Given the description of an element on the screen output the (x, y) to click on. 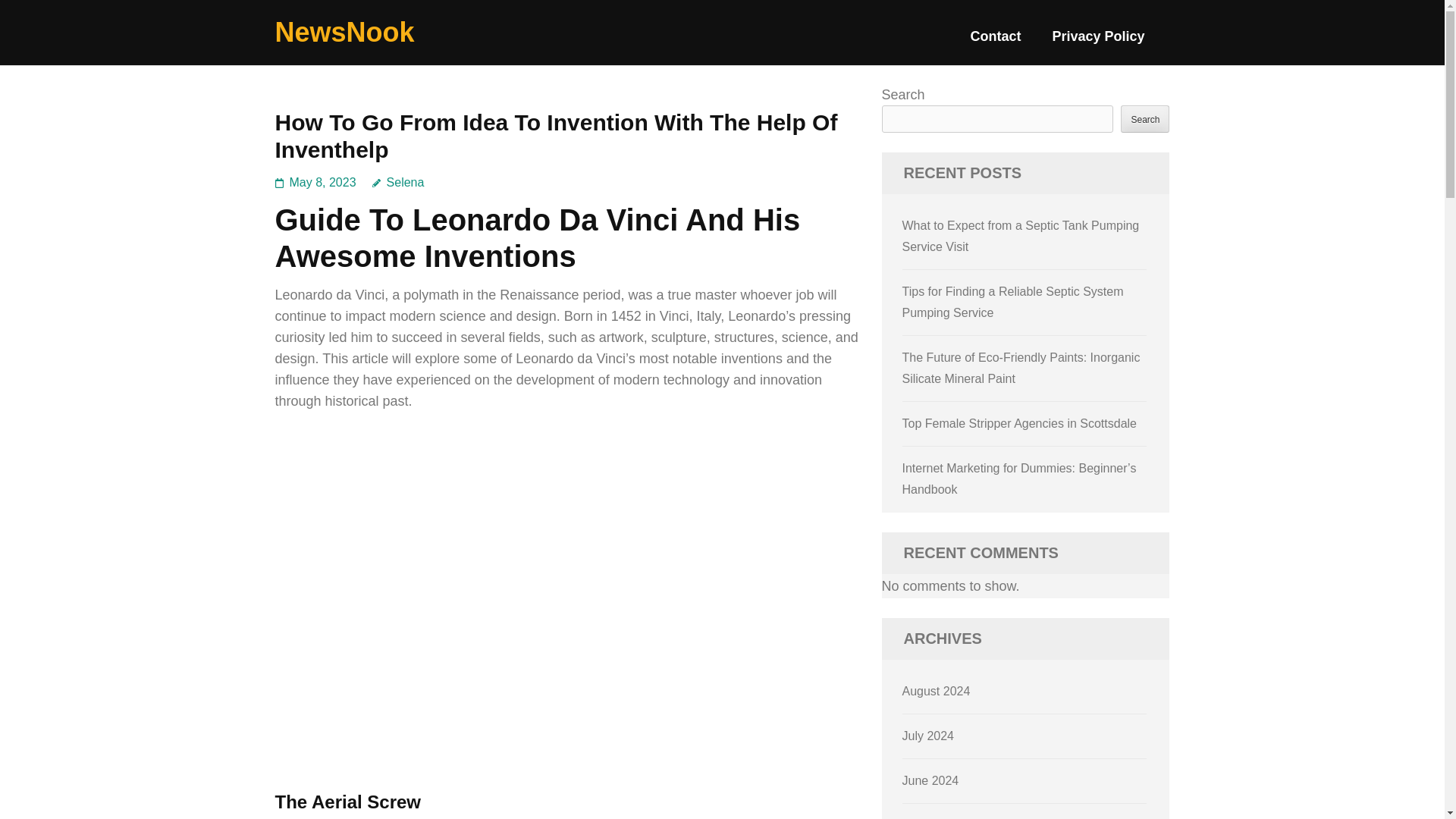
June 2024 (930, 780)
Privacy Policy (1097, 42)
July 2024 (928, 735)
Contact (994, 42)
NewsNook (344, 31)
Search (1145, 118)
What to Expect from a Septic Tank Pumping Service Visit (1021, 236)
Tips for Finding a Reliable Septic System Pumping Service (1013, 302)
